Given the description of an element on the screen output the (x, y) to click on. 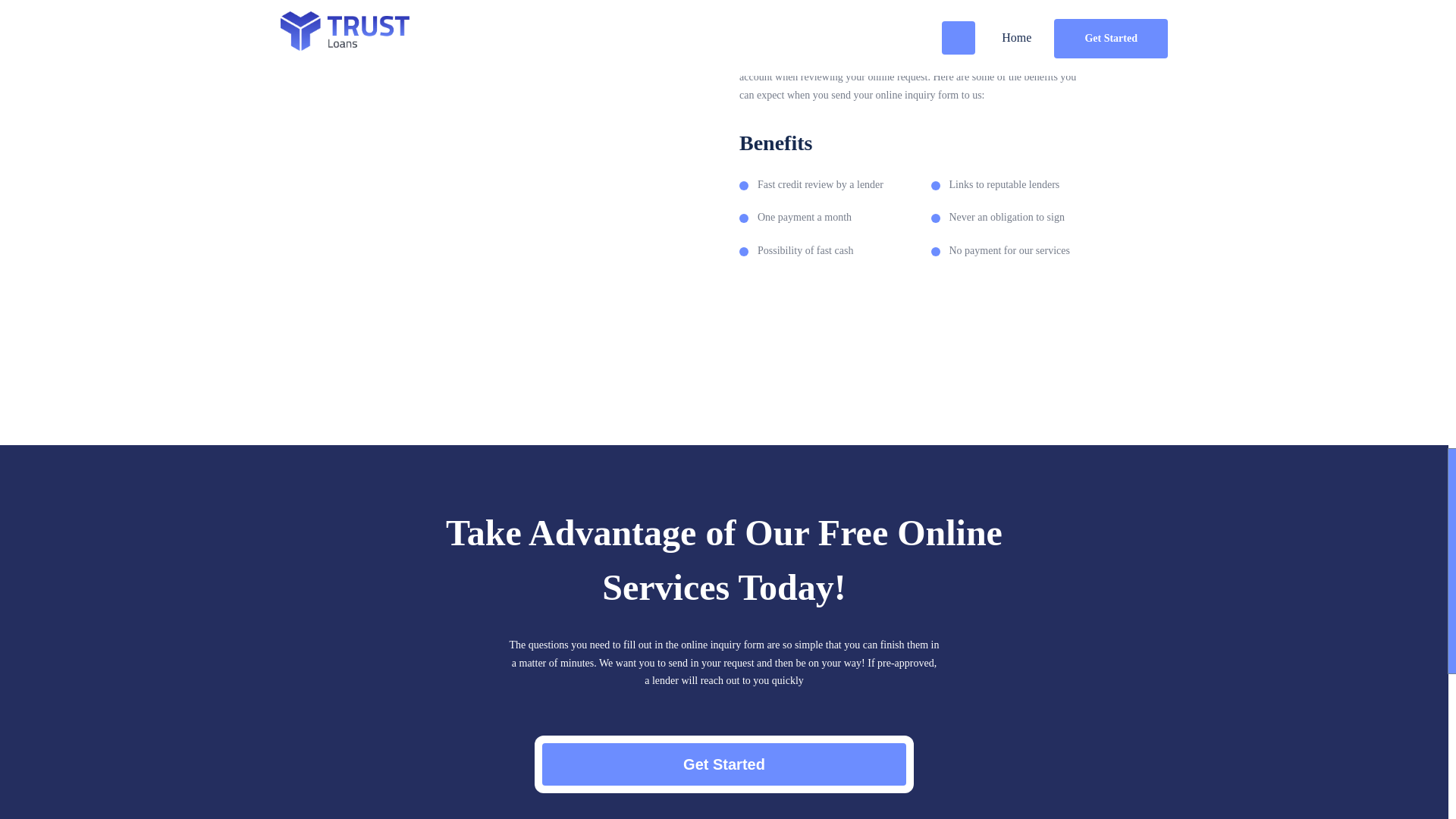
Get Started (723, 763)
